Given the description of an element on the screen output the (x, y) to click on. 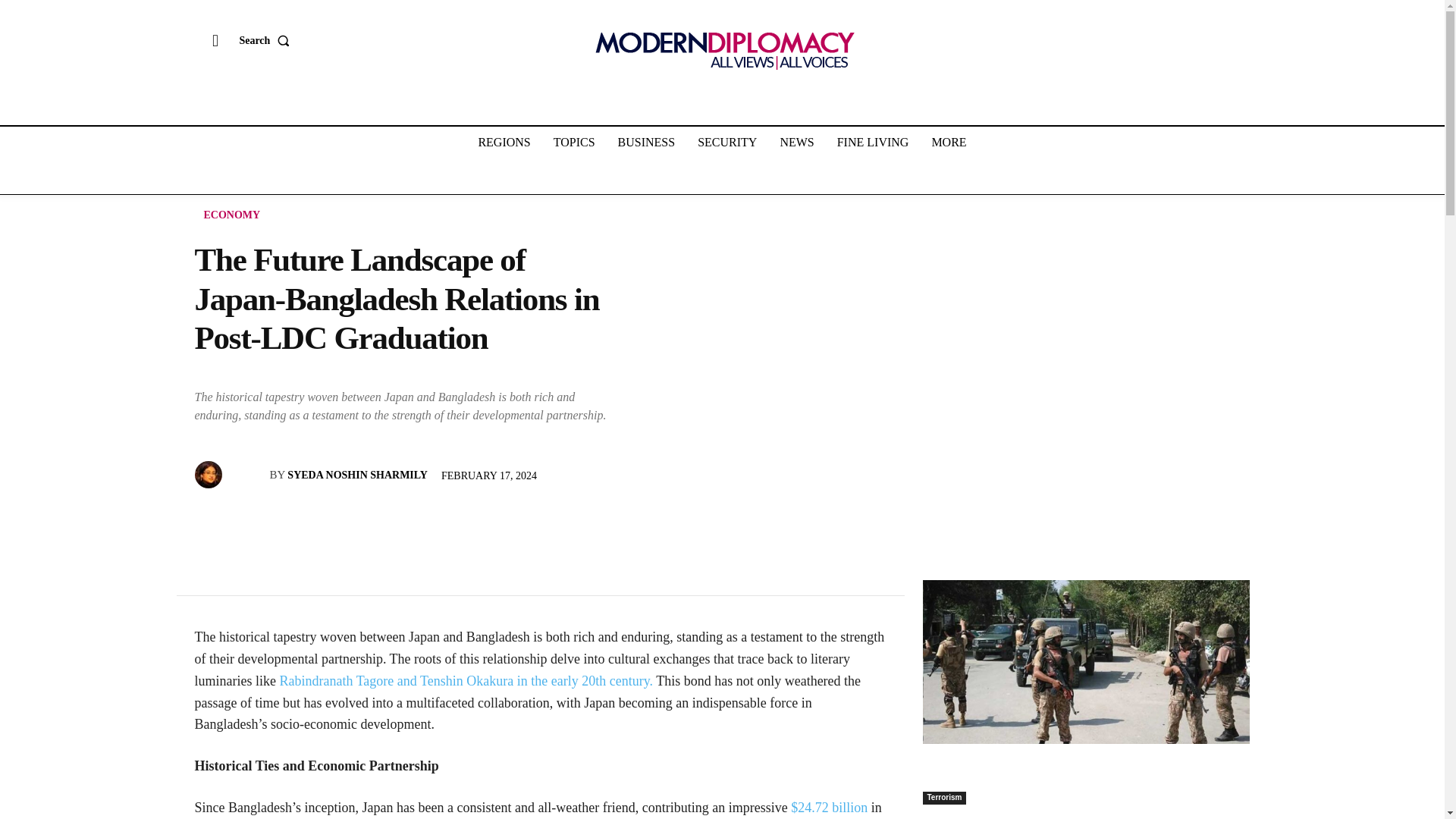
Syeda Noshin Sharmily (209, 474)
